Given the description of an element on the screen output the (x, y) to click on. 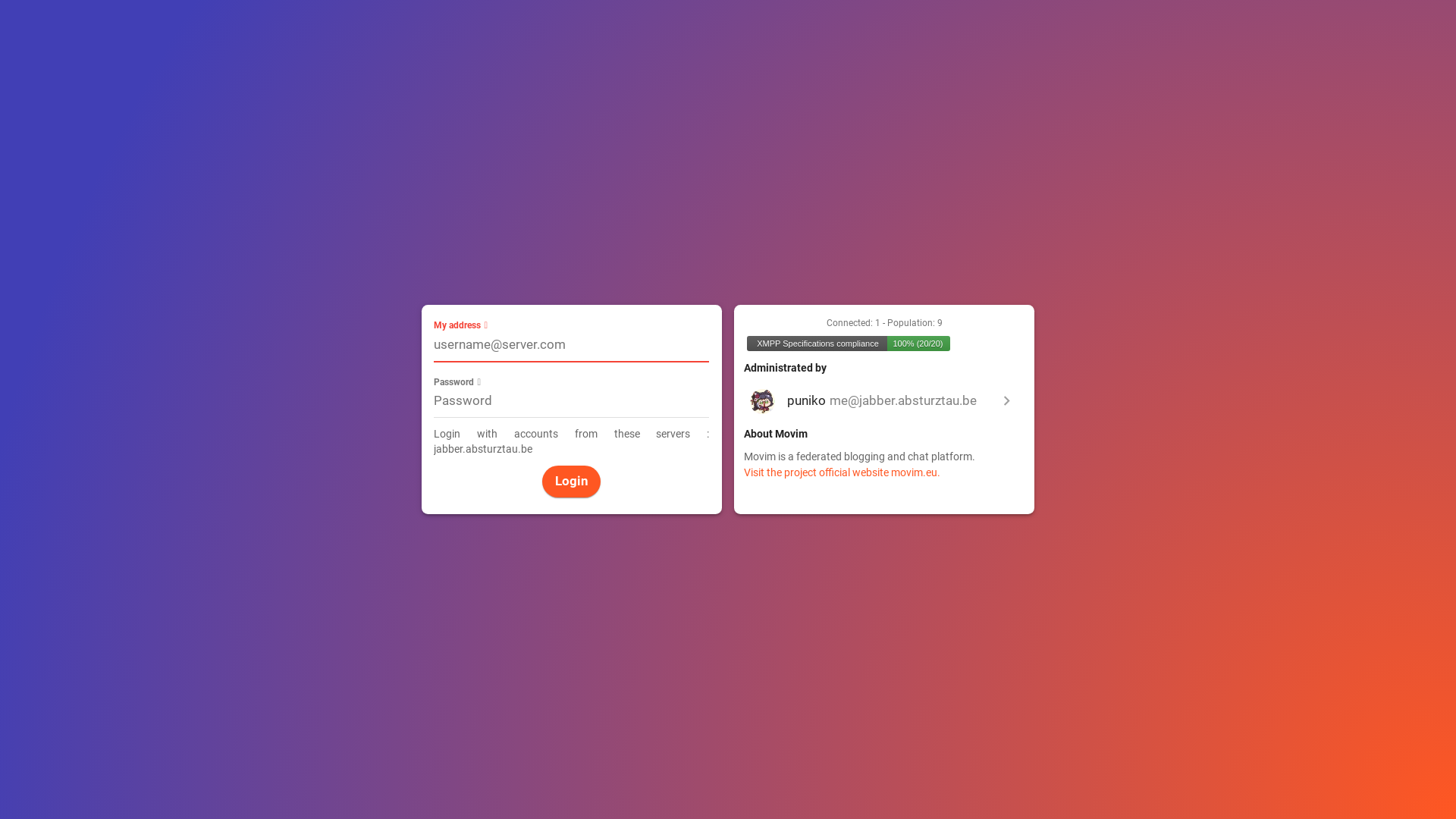
chevron_right
punikome@jabber.absturztau.be Element type: text (884, 400)
Login Element type: text (571, 480)
Visit the project official website movim.eu. Element type: text (841, 472)
